Given the description of an element on the screen output the (x, y) to click on. 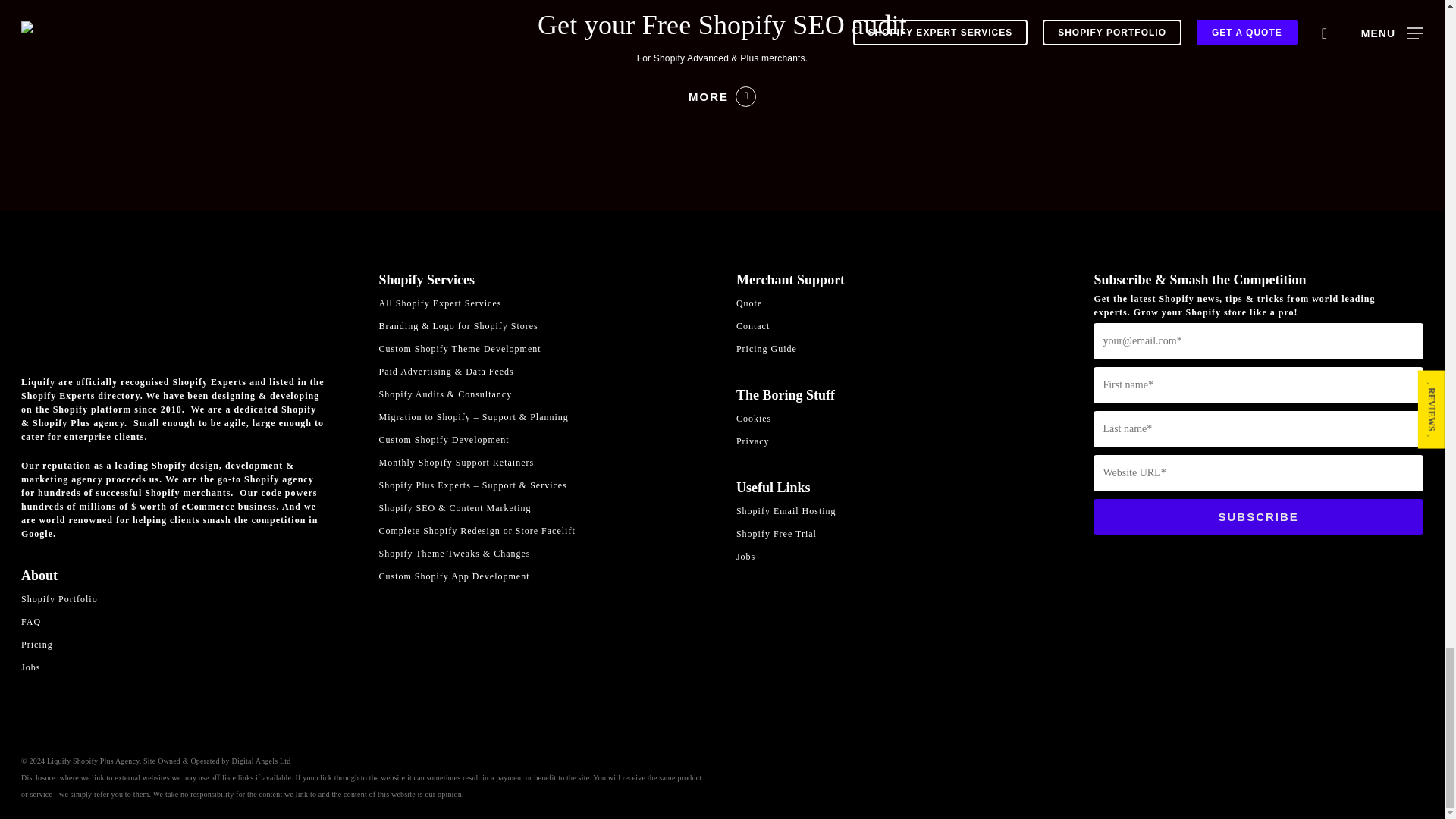
Shopify Free Trial (900, 533)
Pricing for Shopify Experts (185, 644)
Subscribe (1258, 516)
